Given the description of an element on the screen output the (x, y) to click on. 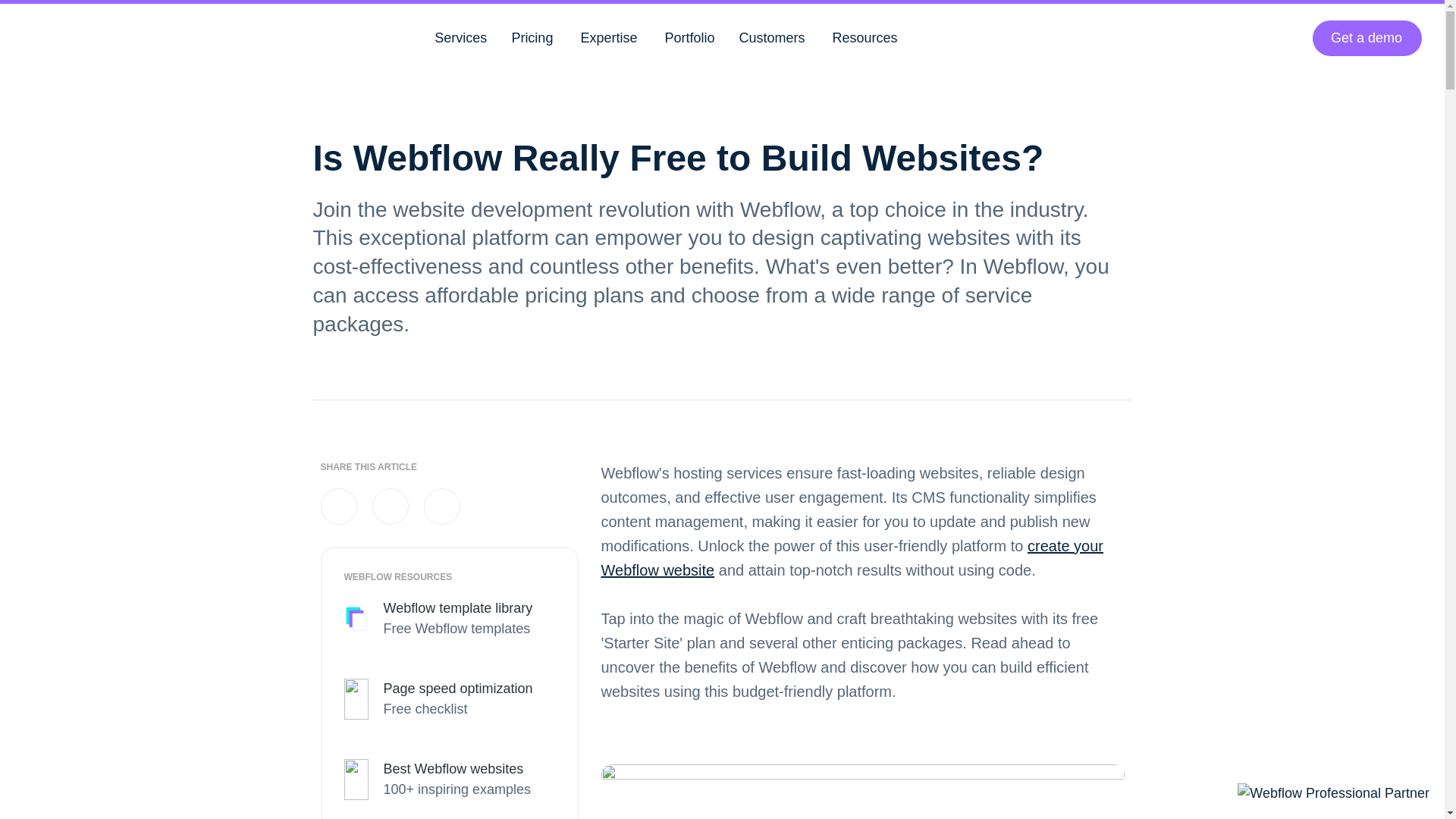
Get a demo (1367, 37)
Customers (771, 37)
Portfolio (689, 37)
Pricing (531, 37)
